Given the description of an element on the screen output the (x, y) to click on. 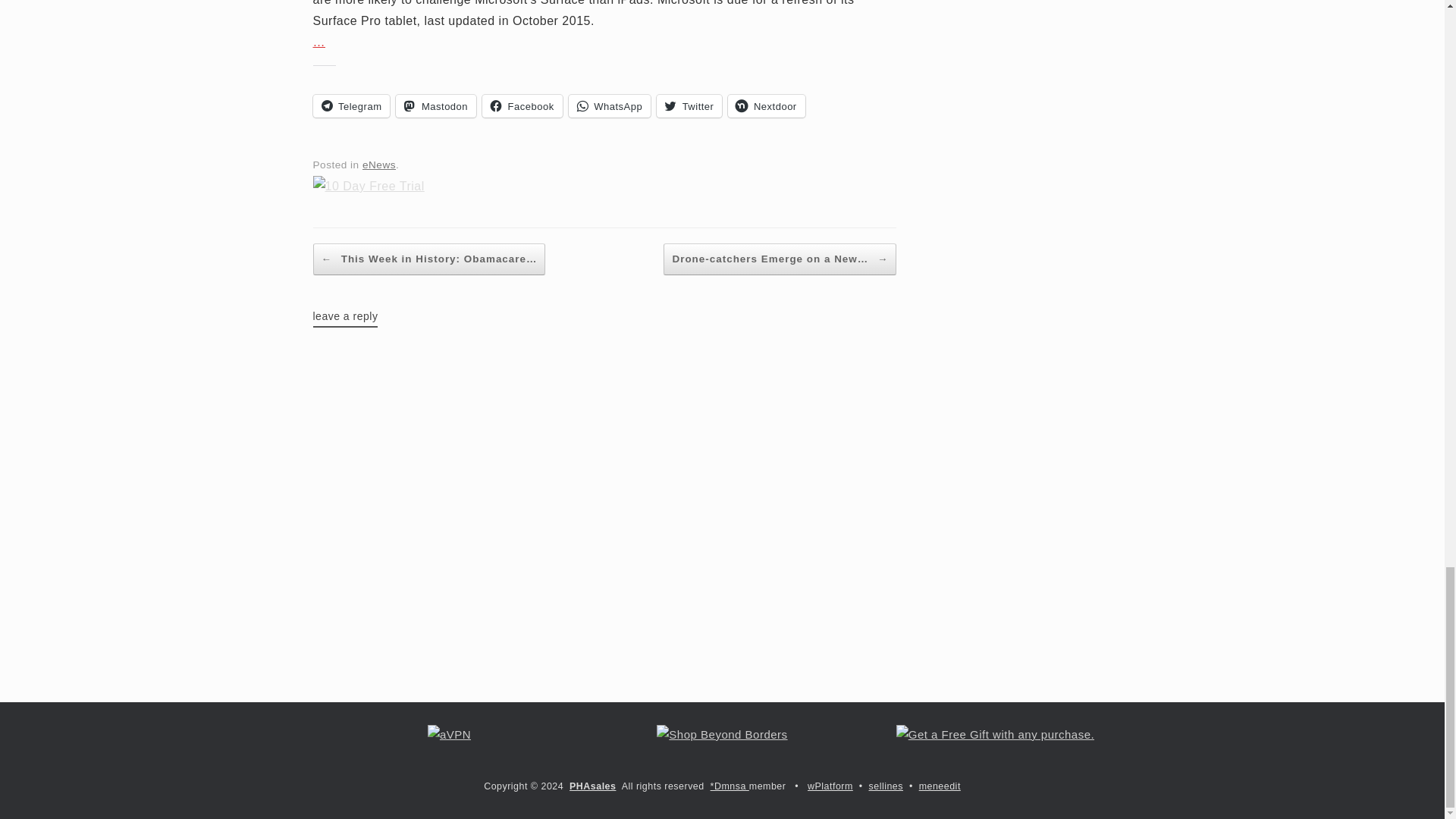
Twitter (689, 106)
Click to share on Mastodon (436, 106)
WhatsApp (609, 106)
Click to share on Nextdoor (766, 106)
Telegram (351, 106)
Click to share on WhatsApp (609, 106)
Facebook (521, 106)
Click to share on Telegram (351, 106)
Click to share on Facebook (521, 106)
Mastodon (436, 106)
Nextdoor (766, 106)
eNews (379, 164)
Click to share on Twitter (689, 106)
